Given the description of an element on the screen output the (x, y) to click on. 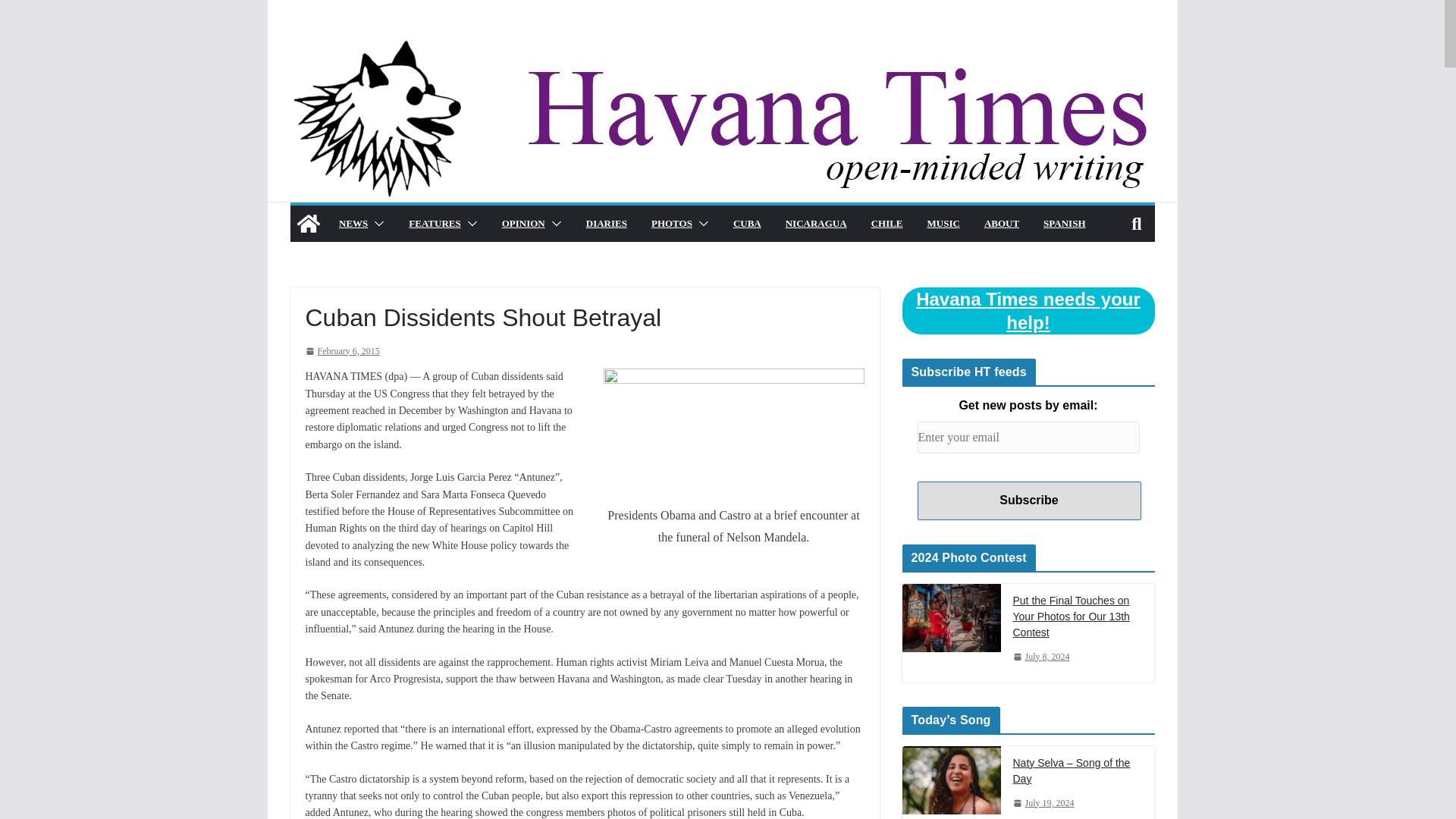
ABOUT (1000, 223)
9:10 pm (1043, 803)
DIARIES (605, 223)
SPANISH (1063, 223)
February 6, 2015 (341, 351)
MUSIC (942, 223)
Put the Final Touches on Your Photos for Our 13th Contest (951, 617)
Havana Times (307, 223)
Havana Times (721, 46)
7:57 am (341, 351)
NICARAGUA (814, 223)
OPINION (522, 223)
PHOTOS (670, 223)
FEATURES (434, 223)
Subscribe (1029, 500)
